Given the description of an element on the screen output the (x, y) to click on. 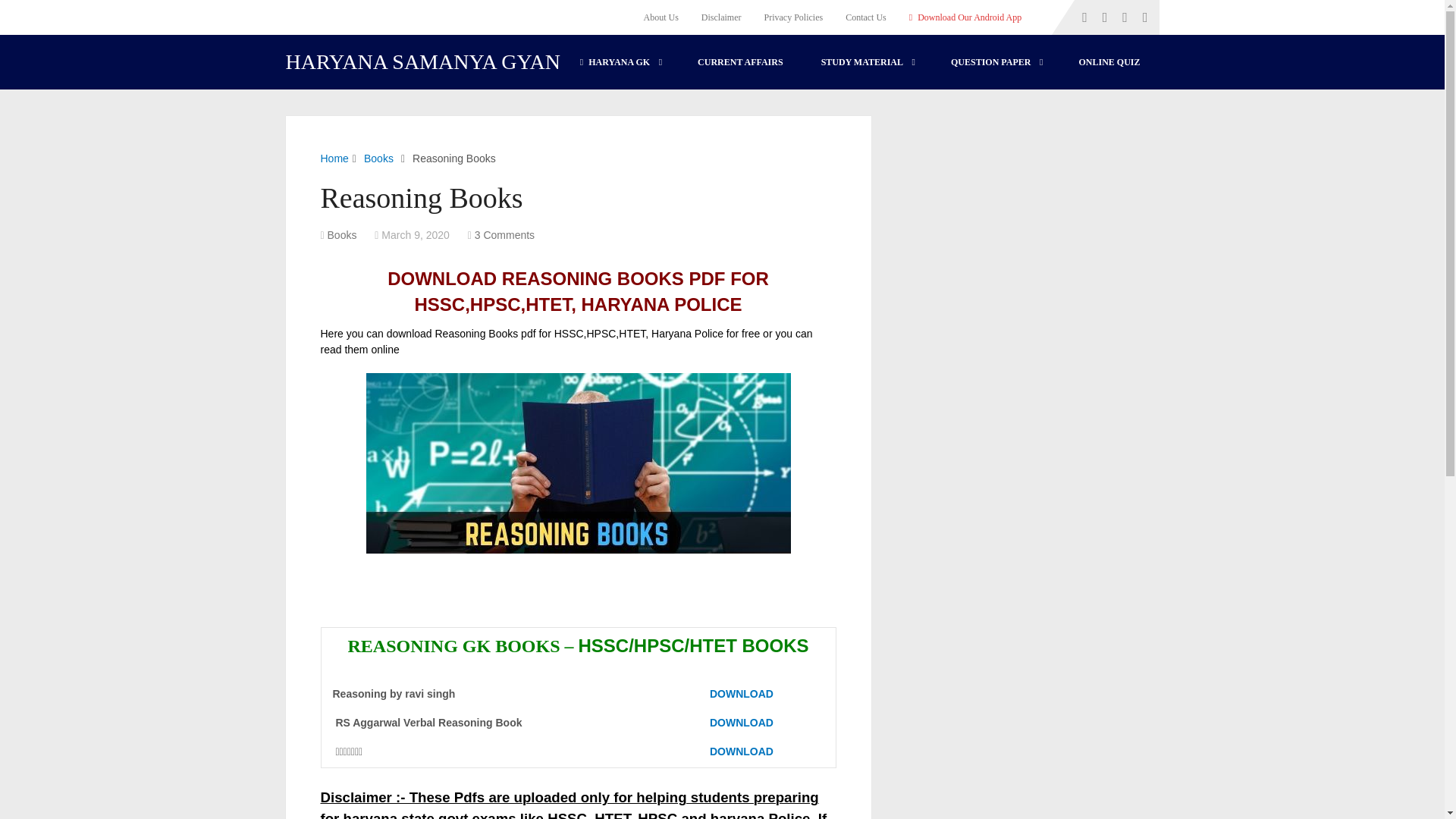
View all posts in Books (341, 234)
HARYANA SAMANYA GYAN (422, 61)
Disclaimer (721, 17)
Contact Us (866, 17)
CURRENT AFFAIRS (740, 62)
About Us (665, 17)
HARYANA GK (619, 62)
STUDY MATERIAL (866, 62)
Home (333, 158)
Download Our Android App (965, 17)
ONLINE QUIZ (1108, 62)
Privacy Policies (793, 17)
QUESTION PAPER (995, 62)
